Given the description of an element on the screen output the (x, y) to click on. 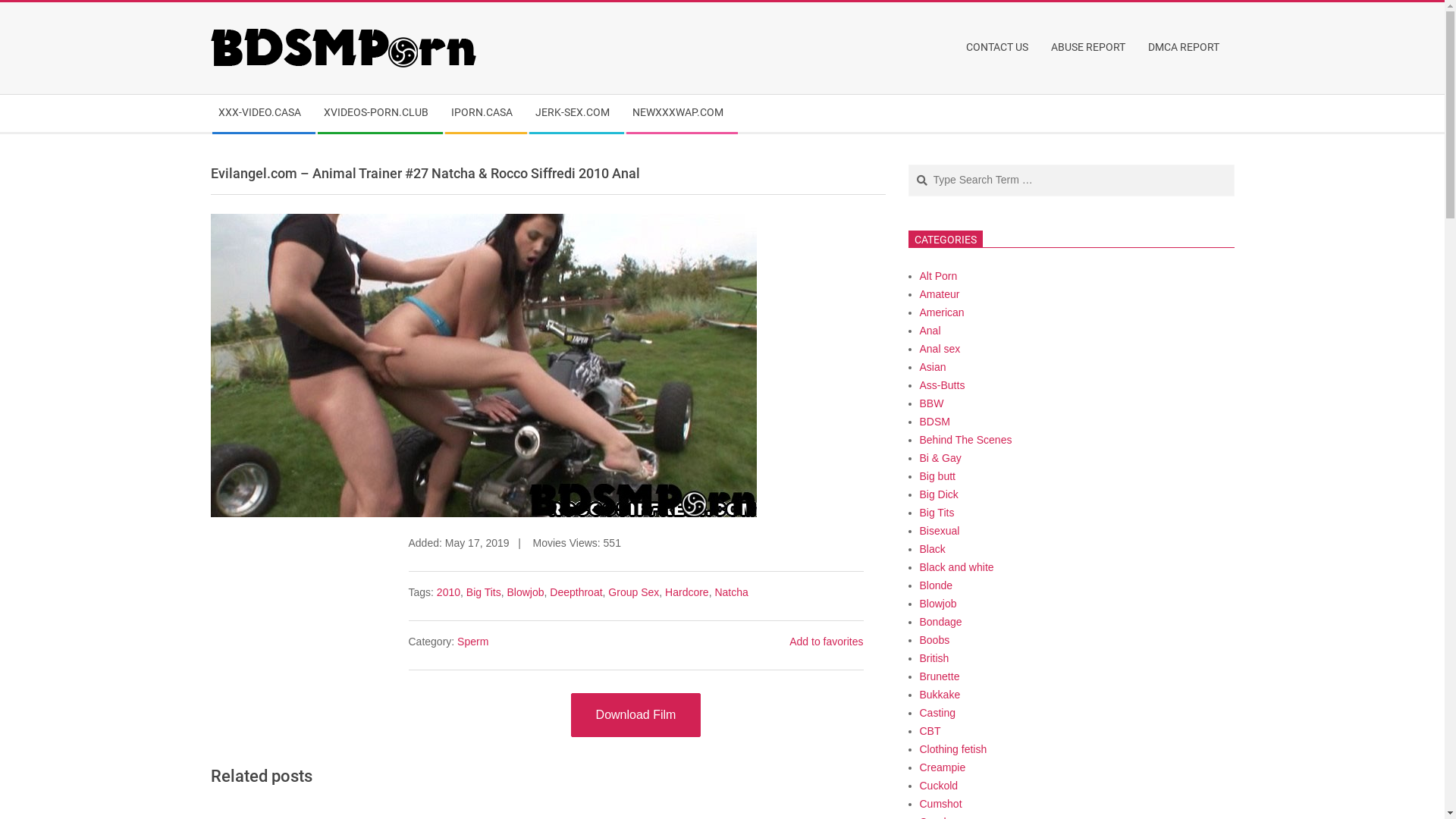
Sperm Element type: text (472, 641)
CONTACT US Element type: text (1000, 47)
Brunette Element type: text (939, 676)
Blonde Element type: text (935, 585)
Anal Element type: text (929, 330)
BBW Element type: text (931, 403)
Big butt Element type: text (936, 476)
XXX-VIDEO.CASA Element type: text (263, 112)
Add to favorites Element type: text (825, 641)
Ass-Butts Element type: text (941, 385)
Asian Element type: text (932, 366)
Cumshot Element type: text (940, 803)
DMCA REPORT Element type: text (1187, 47)
Alt Porn Element type: text (938, 275)
Anal sex Element type: text (939, 348)
2010 Element type: text (448, 592)
Deepthroat Element type: text (575, 592)
JERK-SEX.COM Element type: text (575, 112)
Bukkake Element type: text (939, 694)
American Element type: text (941, 312)
Casting Element type: text (936, 712)
Clothing fetish Element type: text (952, 749)
IPORN.CASA Element type: text (484, 112)
NEWXXXWAP.COM Element type: text (681, 112)
Black and white Element type: text (956, 567)
Amateur Element type: text (939, 294)
Skip to content Element type: text (0, 2)
Blowjob Element type: text (524, 592)
BDSM Element type: text (934, 421)
Black Element type: text (931, 548)
Behind The Scenes Element type: text (965, 439)
XVIDEOS-PORN.CLUB Element type: text (378, 112)
Hardcore Element type: text (687, 592)
Big Tits Element type: text (483, 592)
Creampie Element type: text (942, 767)
Cuckold Element type: text (938, 785)
ABUSE REPORT Element type: text (1091, 47)
Big Dick Element type: text (938, 494)
Bondage Element type: text (940, 621)
Boobs Element type: text (934, 639)
Blowjob Element type: text (937, 603)
Group Sex Element type: text (633, 592)
Bisexual Element type: text (939, 530)
CBT Element type: text (929, 730)
Bi & Gay Element type: text (939, 457)
Download Film Element type: text (636, 715)
Big Tits Element type: text (936, 512)
British Element type: text (933, 658)
Natcha Element type: text (730, 592)
